Given the description of an element on the screen output the (x, y) to click on. 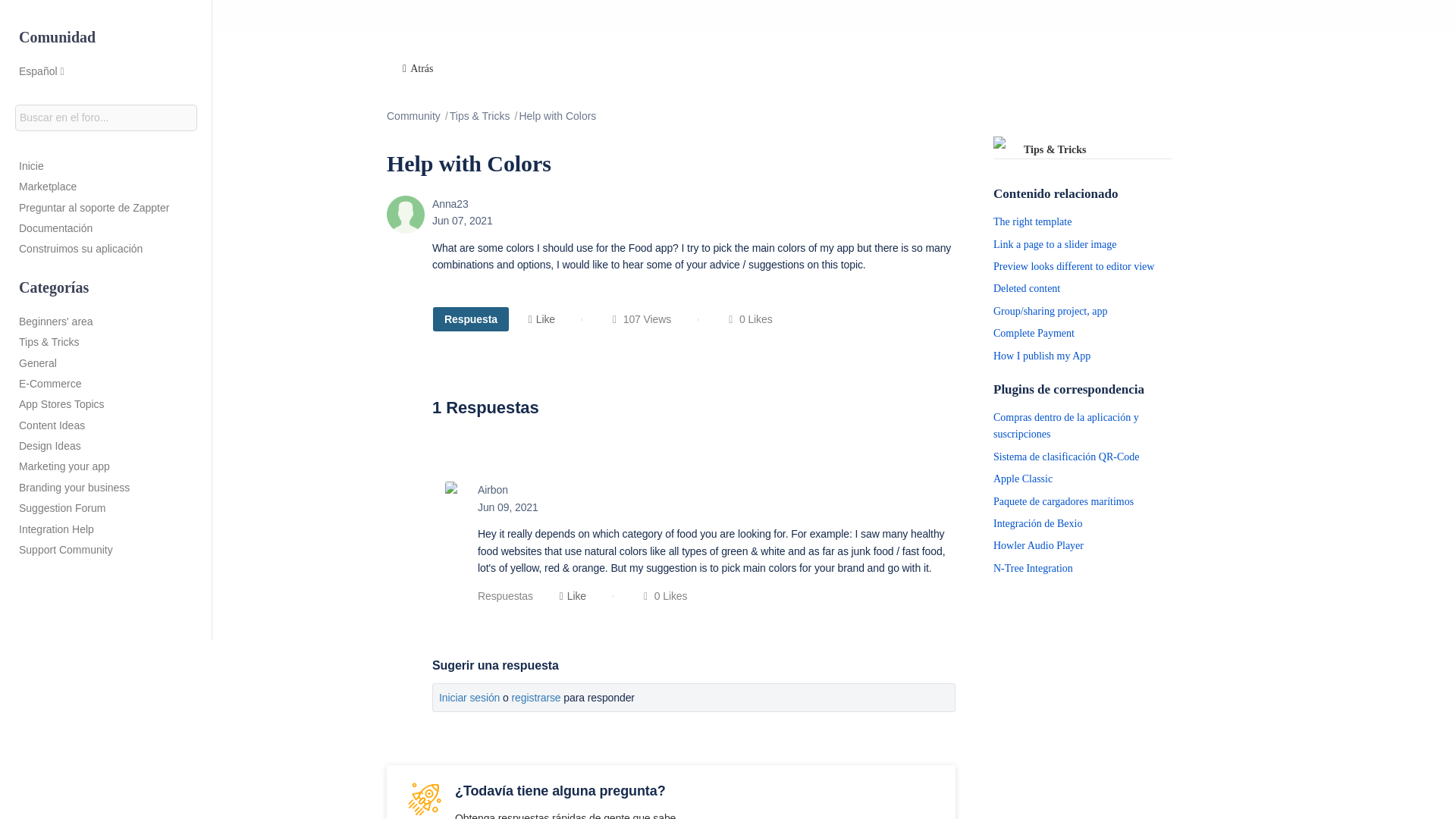
Marketing your app (106, 464)
registrarse (536, 697)
App Stores Topics (106, 402)
Like (570, 595)
Respuestas (508, 595)
E-Commerce (106, 381)
Content Ideas (106, 423)
Branding your business (106, 485)
107 Views (639, 319)
Inicie (106, 163)
